Given the description of an element on the screen output the (x, y) to click on. 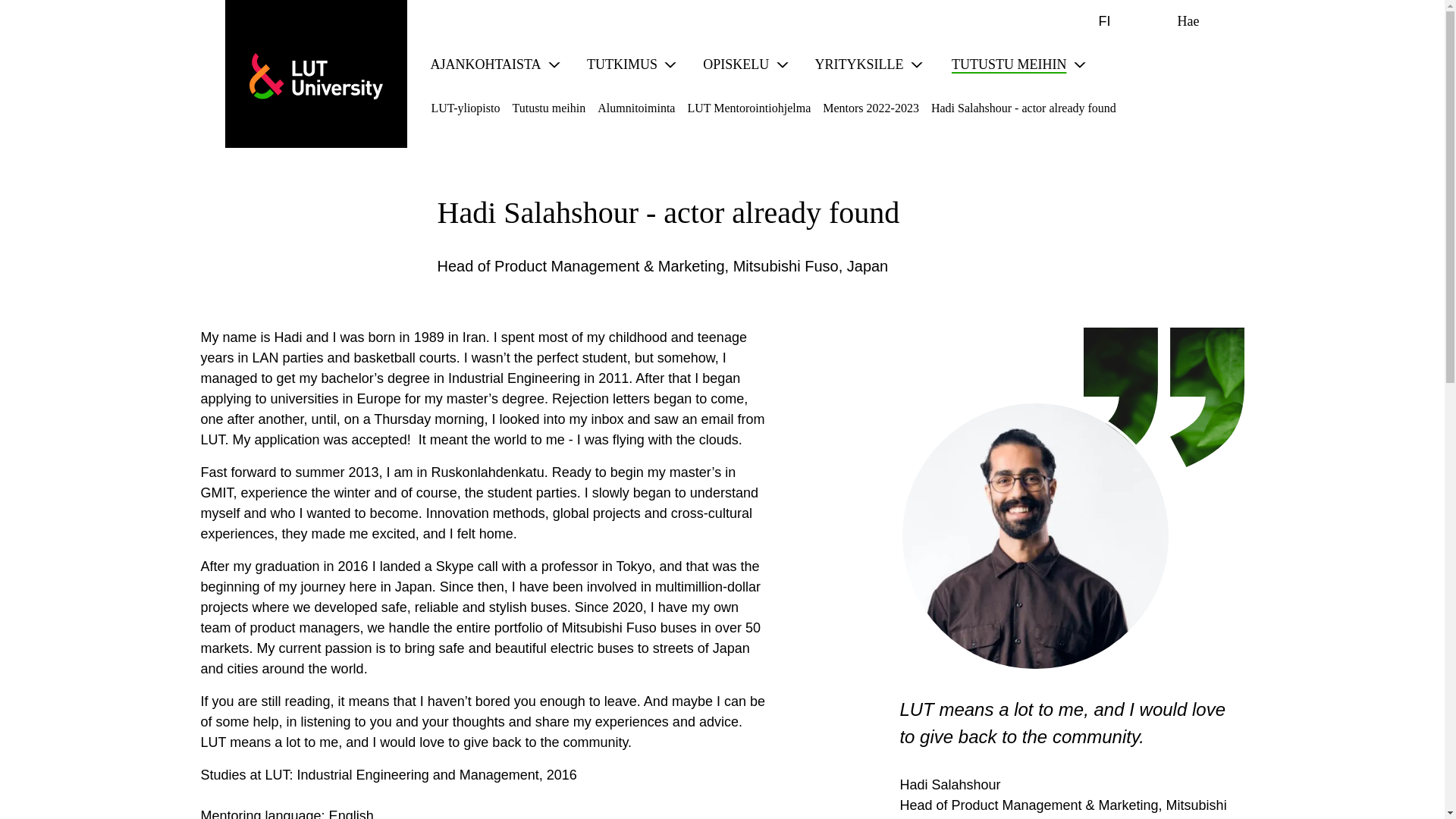
TUTKIMUS (618, 64)
Etusivu (314, 76)
LUT-yliopisto (314, 76)
Tietoa LUT-yliopistosta (1004, 64)
Avaa seuraava valikkotaso (670, 65)
Tutkimus (618, 64)
Hae (1176, 21)
Uutiset ja tapahtumat (481, 64)
Avaa seuraava valikkotaso (553, 65)
AJANKOHTAISTA (481, 64)
Opiskelu (731, 64)
